Given the description of an element on the screen output the (x, y) to click on. 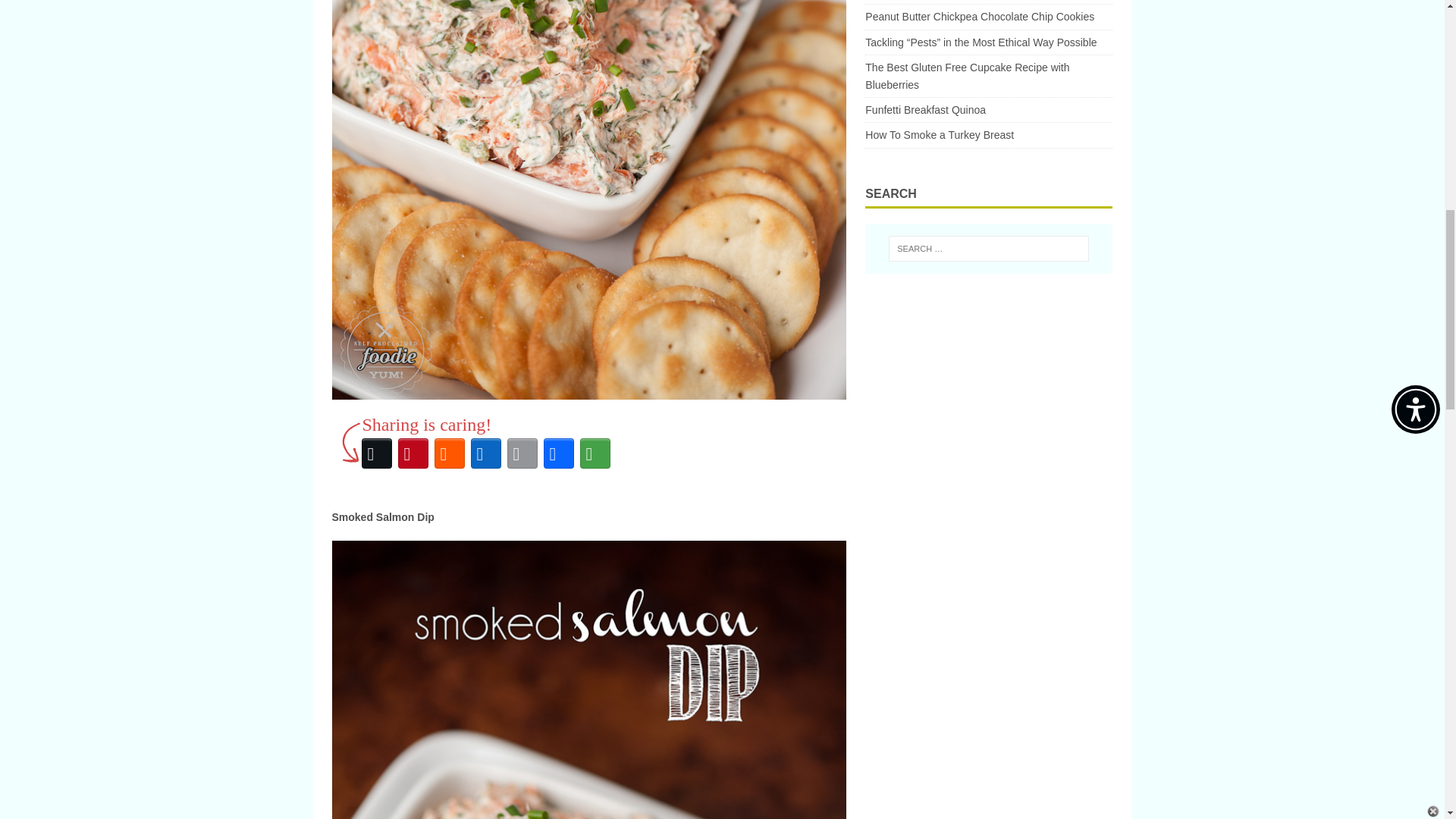
More Options (594, 452)
Reddit (448, 452)
LinkedIn (485, 452)
Facebook (558, 452)
Email This (521, 452)
Pinterest (412, 452)
